Given the description of an element on the screen output the (x, y) to click on. 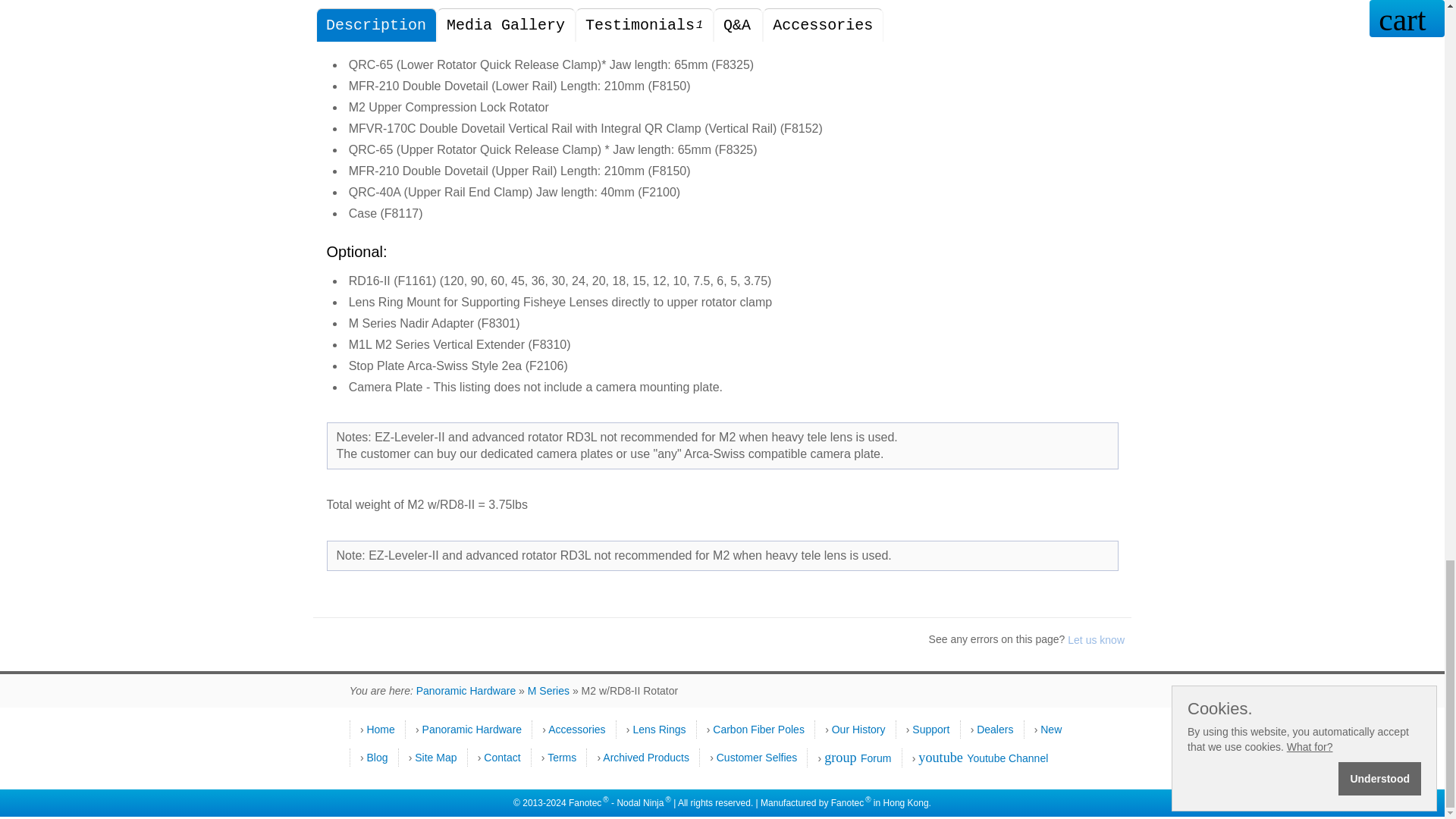
Let us know (1095, 639)
